Given the description of an element on the screen output the (x, y) to click on. 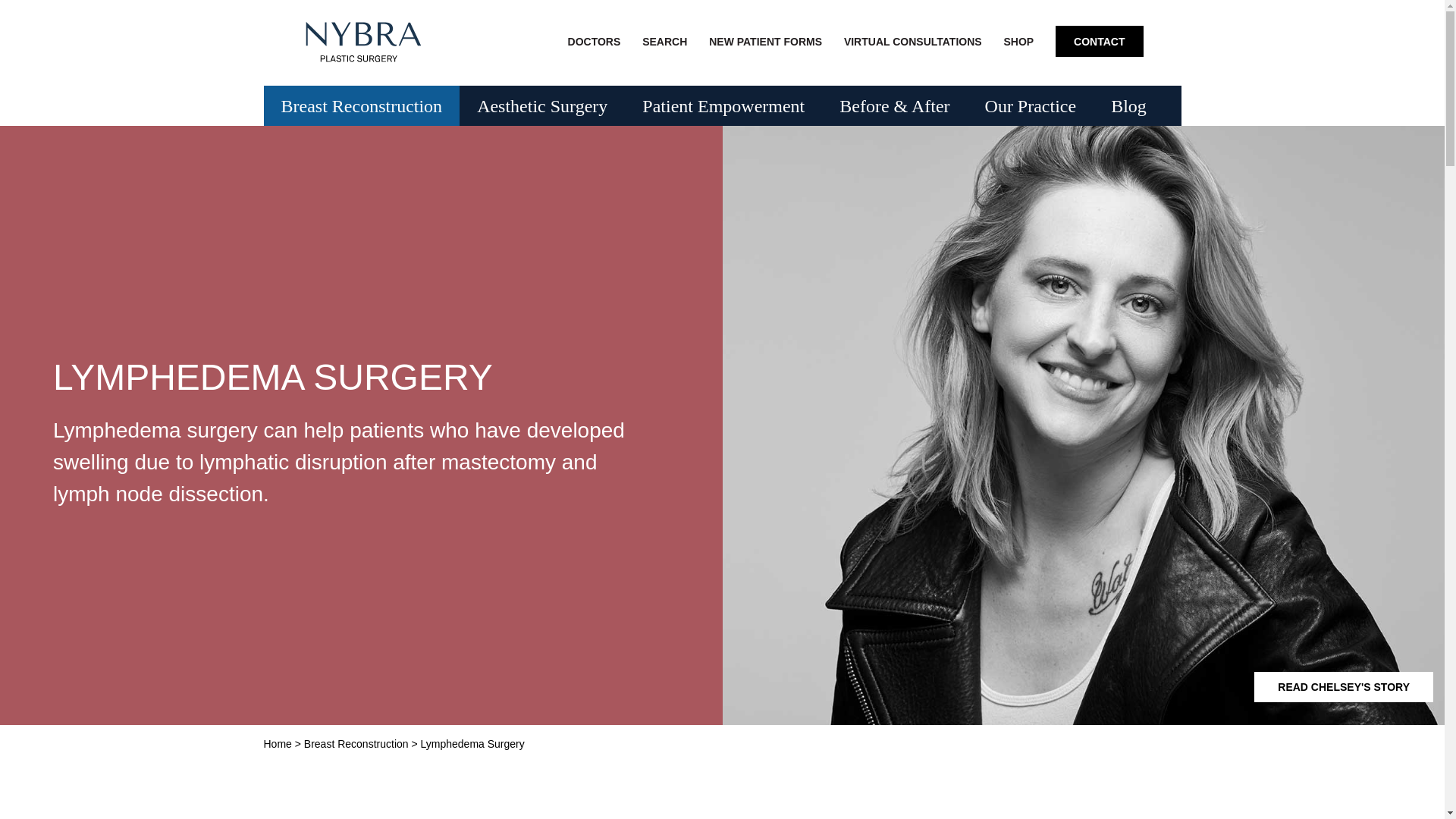
DOCTORS (594, 39)
VIRTUAL CONSULTATIONS (912, 39)
SEARCH (664, 39)
NEW PATIENT FORMS (765, 39)
CONTACT (1098, 40)
SHOP (1018, 39)
